Given the description of an element on the screen output the (x, y) to click on. 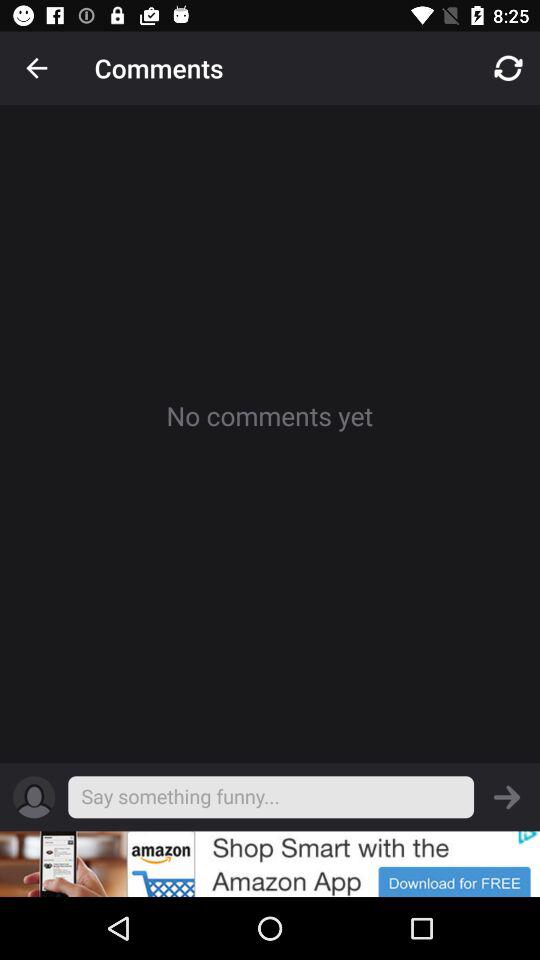
send (507, 797)
